Given the description of an element on the screen output the (x, y) to click on. 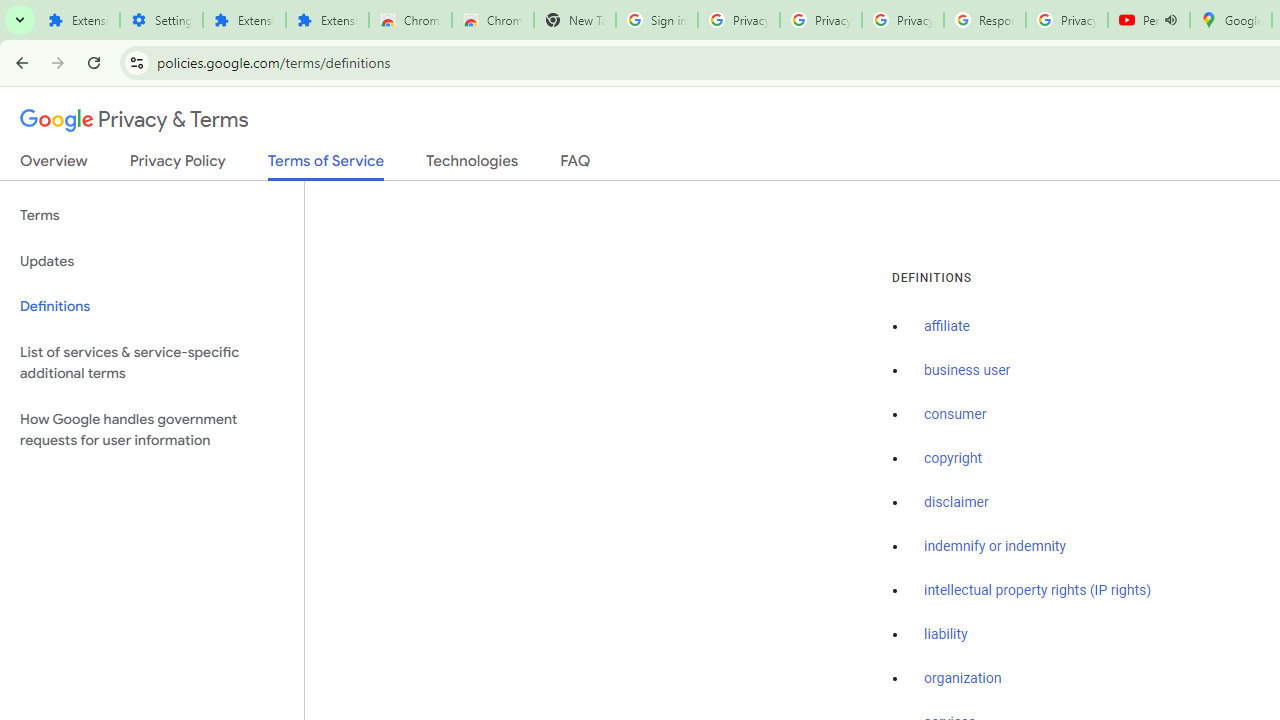
business user (967, 371)
Sign in - Google Accounts (656, 20)
disclaimer (956, 502)
Extensions (78, 20)
Mute tab (1170, 20)
consumer (955, 415)
organization (963, 679)
Personalized AI for you | Gemini - YouTube - Audio playing (1149, 20)
